Given the description of an element on the screen output the (x, y) to click on. 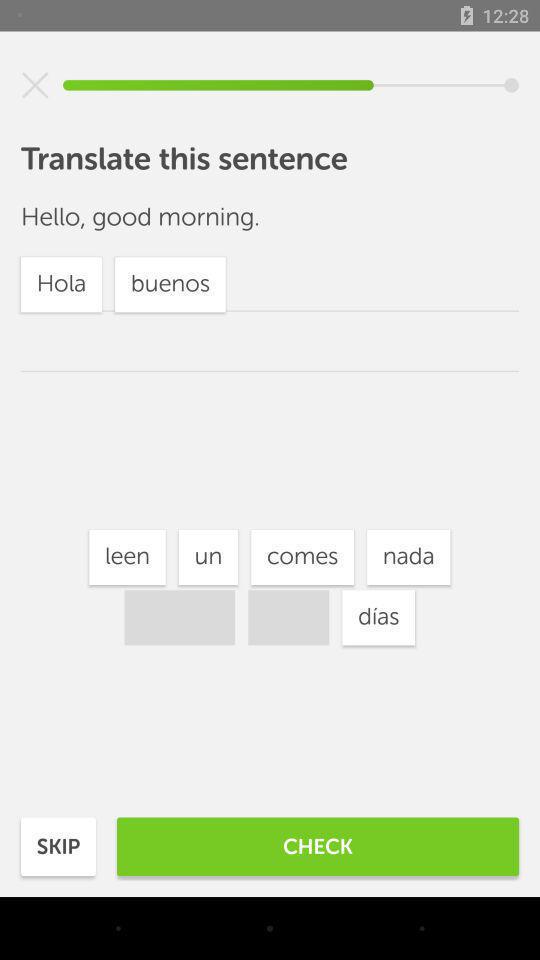
close the captation (35, 85)
